Given the description of an element on the screen output the (x, y) to click on. 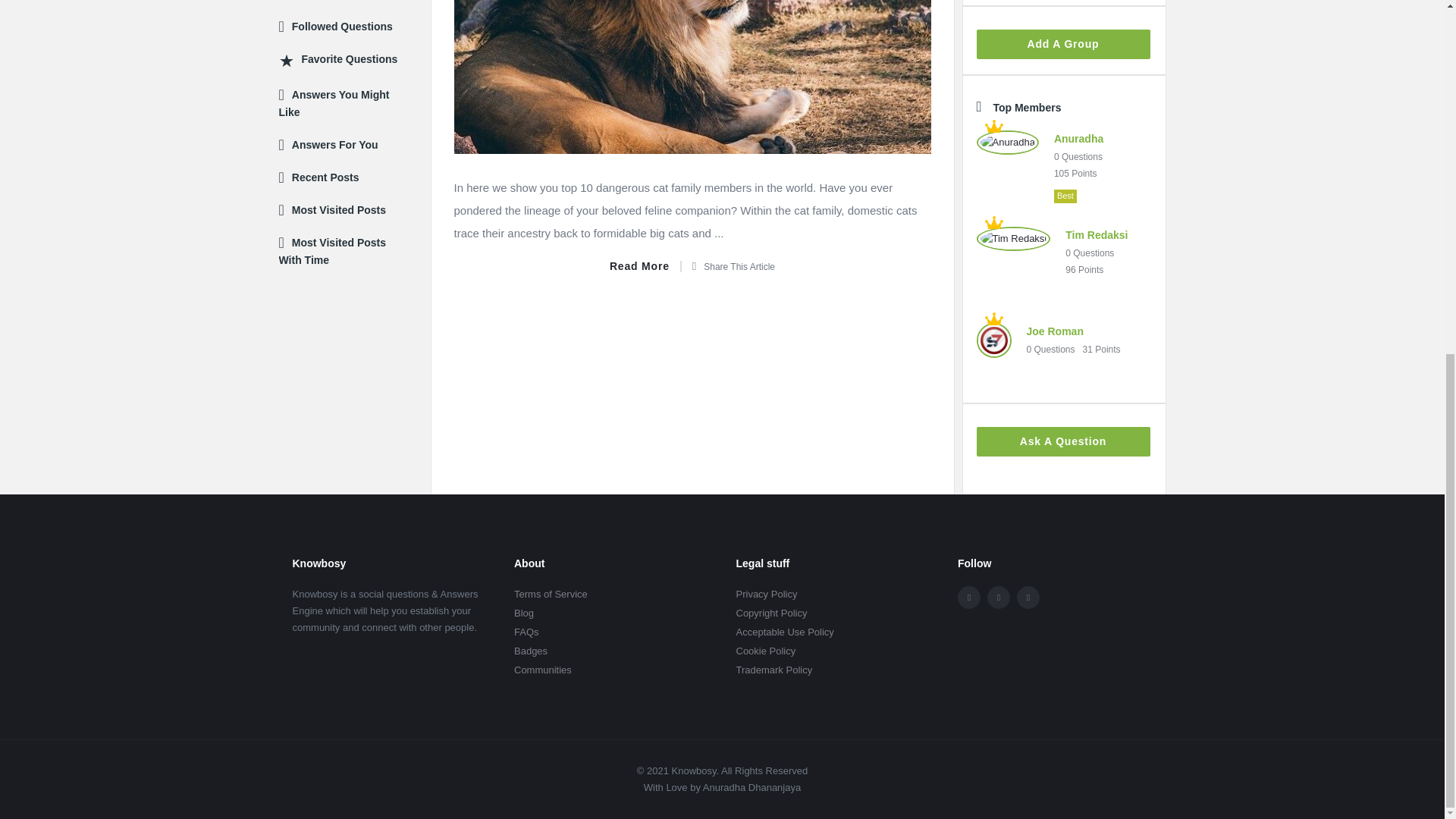
Twitter (998, 597)
Facebook (968, 597)
Anuradha (1007, 142)
Tim Redaksi (1013, 238)
Joe Roman (994, 340)
Pinterest (1027, 597)
Read Top 10 Dangerous Cat Family Members In The World (645, 266)
